Given the description of an element on the screen output the (x, y) to click on. 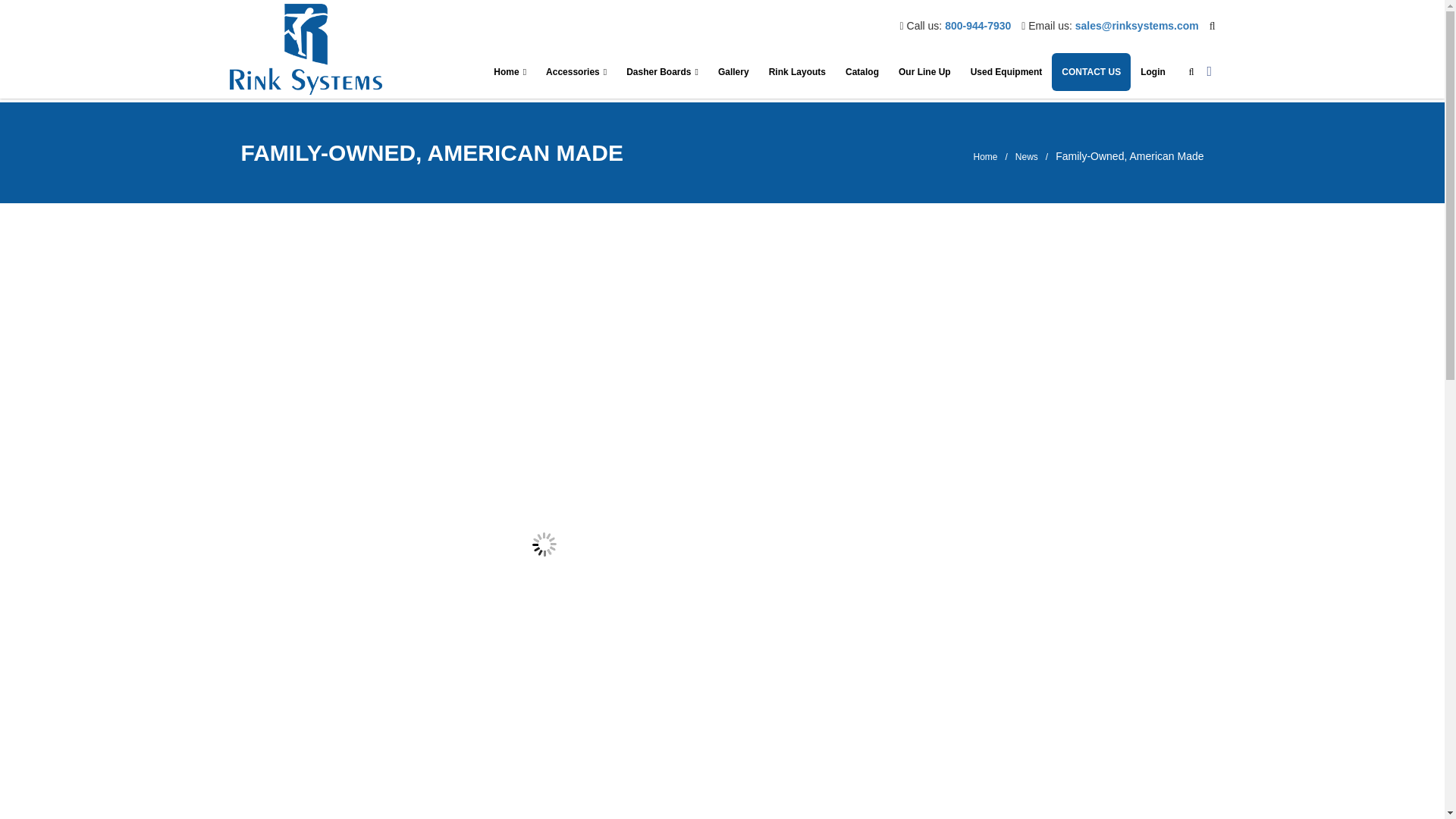
Home (509, 71)
Gallery (732, 71)
Rink Systems (304, 49)
Accessories (575, 71)
Login (1152, 71)
Our Line Up (924, 71)
Home (509, 71)
Accessories (575, 71)
Catalog (861, 71)
CONTACT US (1091, 71)
